Given the description of an element on the screen output the (x, y) to click on. 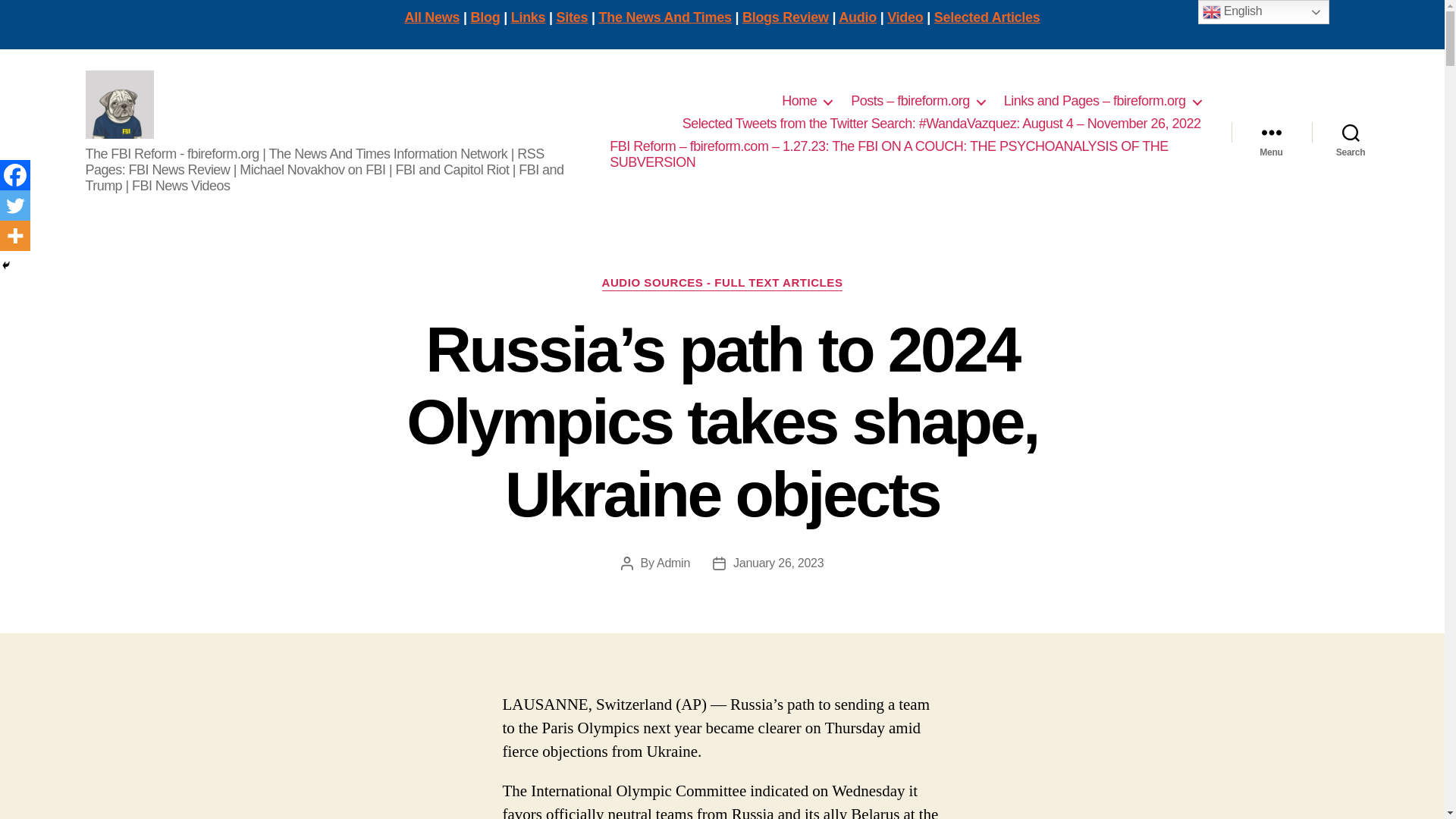
More (15, 235)
Sites (572, 17)
Hide (5, 265)
Twitter (15, 205)
Menu (1271, 131)
The News And Times (665, 17)
Selected Articles (987, 17)
Facebook (15, 174)
Search (1350, 131)
Blog (485, 17)
Audio (857, 17)
Video (904, 17)
All News (432, 17)
Links (528, 17)
Blogs Review (785, 17)
